Given the description of an element on the screen output the (x, y) to click on. 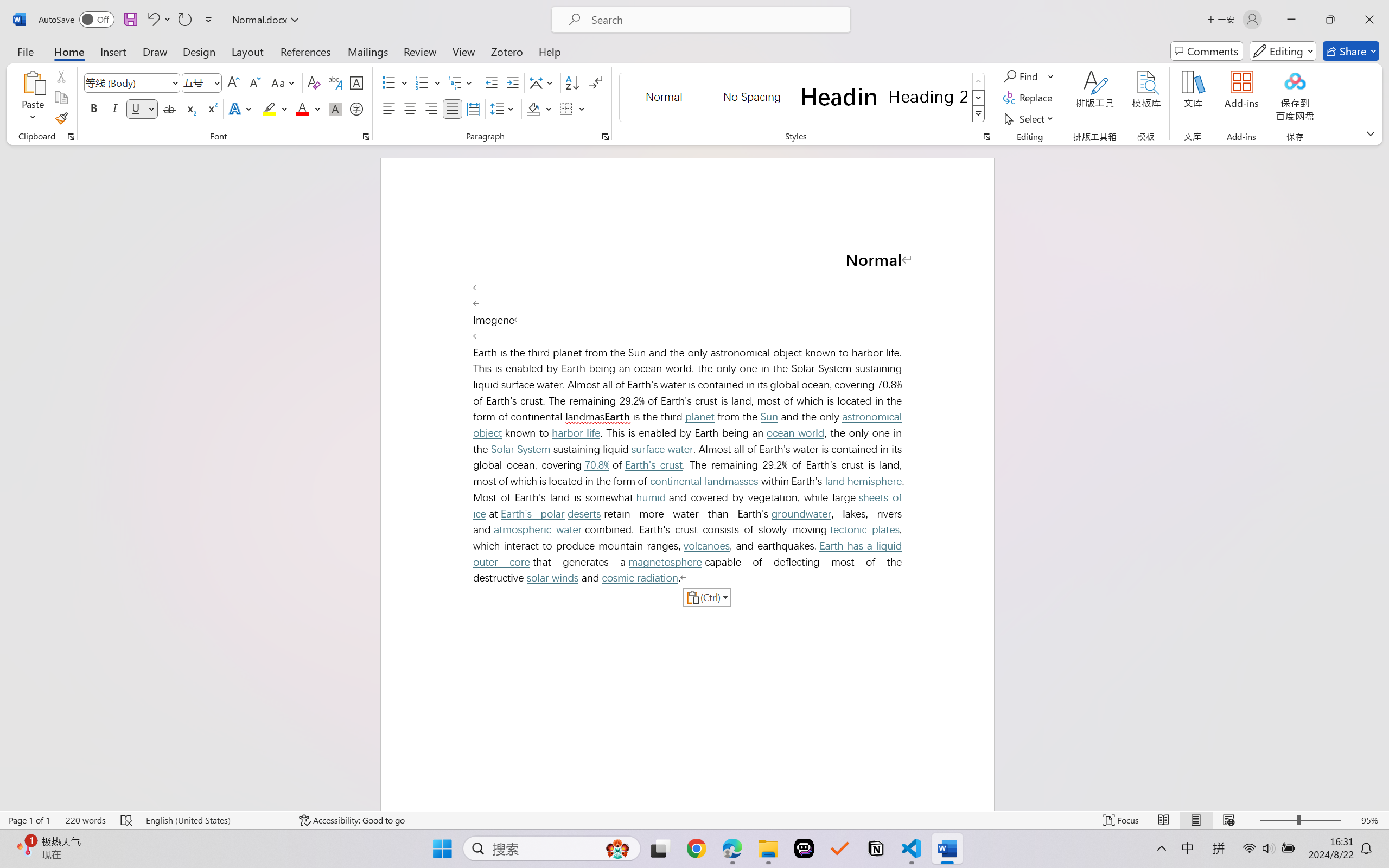
Shading RGB(0, 0, 0) (533, 108)
Zoom 95% (1372, 819)
landmasses (731, 480)
Replace... (1029, 97)
Center (409, 108)
Styles... (986, 136)
tectonic plates (865, 529)
Copy (60, 97)
Cut (60, 75)
